Given the description of an element on the screen output the (x, y) to click on. 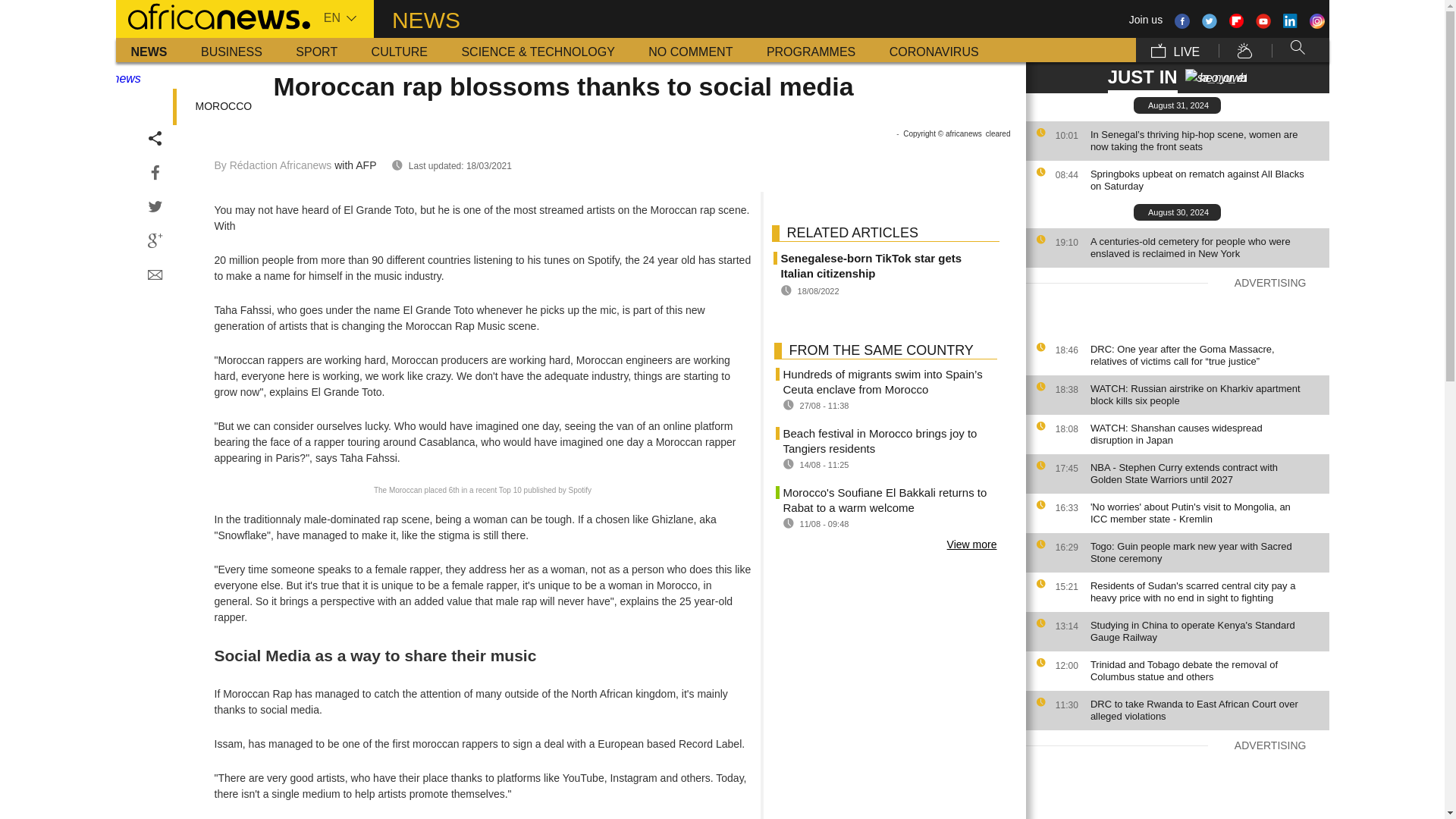
SPORT (316, 49)
News (148, 49)
Sport (316, 49)
Programmes (810, 49)
Culture (399, 49)
Coronavirus (934, 49)
CORONAVIRUS (934, 49)
No Comment (690, 49)
